Given the description of an element on the screen output the (x, y) to click on. 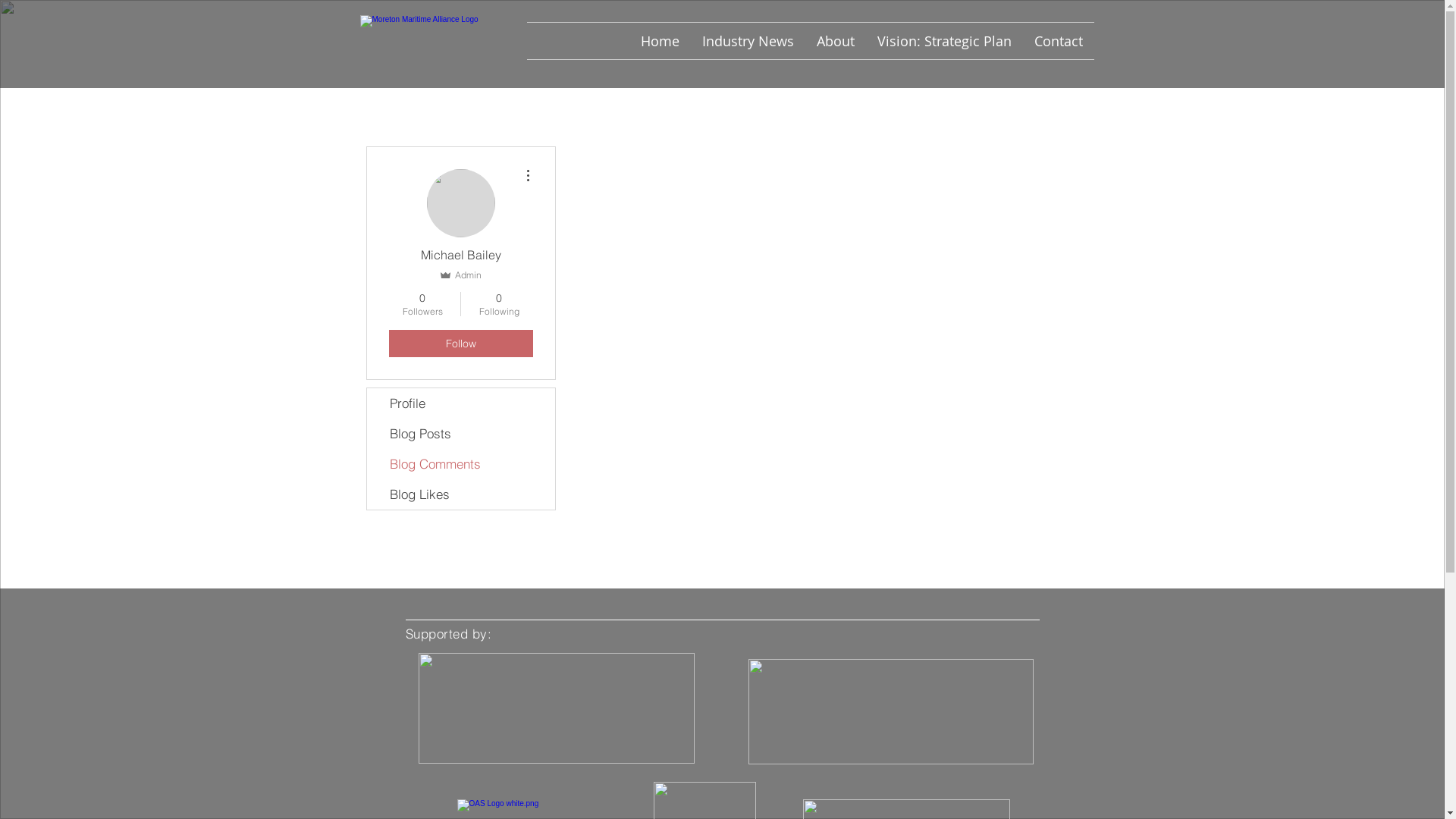
Contact Element type: text (1057, 40)
About Element type: text (835, 40)
Blog Likes Element type: text (461, 494)
Vision: Strategic Plan Element type: text (944, 40)
0
Following Element type: text (499, 303)
Profile Element type: text (461, 403)
Follow Element type: text (460, 343)
Blog Comments Element type: text (461, 463)
Home Element type: text (659, 40)
Industry News Element type: text (747, 40)
Blog Posts Element type: text (461, 433)
0
Followers Element type: text (421, 303)
